Given the description of an element on the screen output the (x, y) to click on. 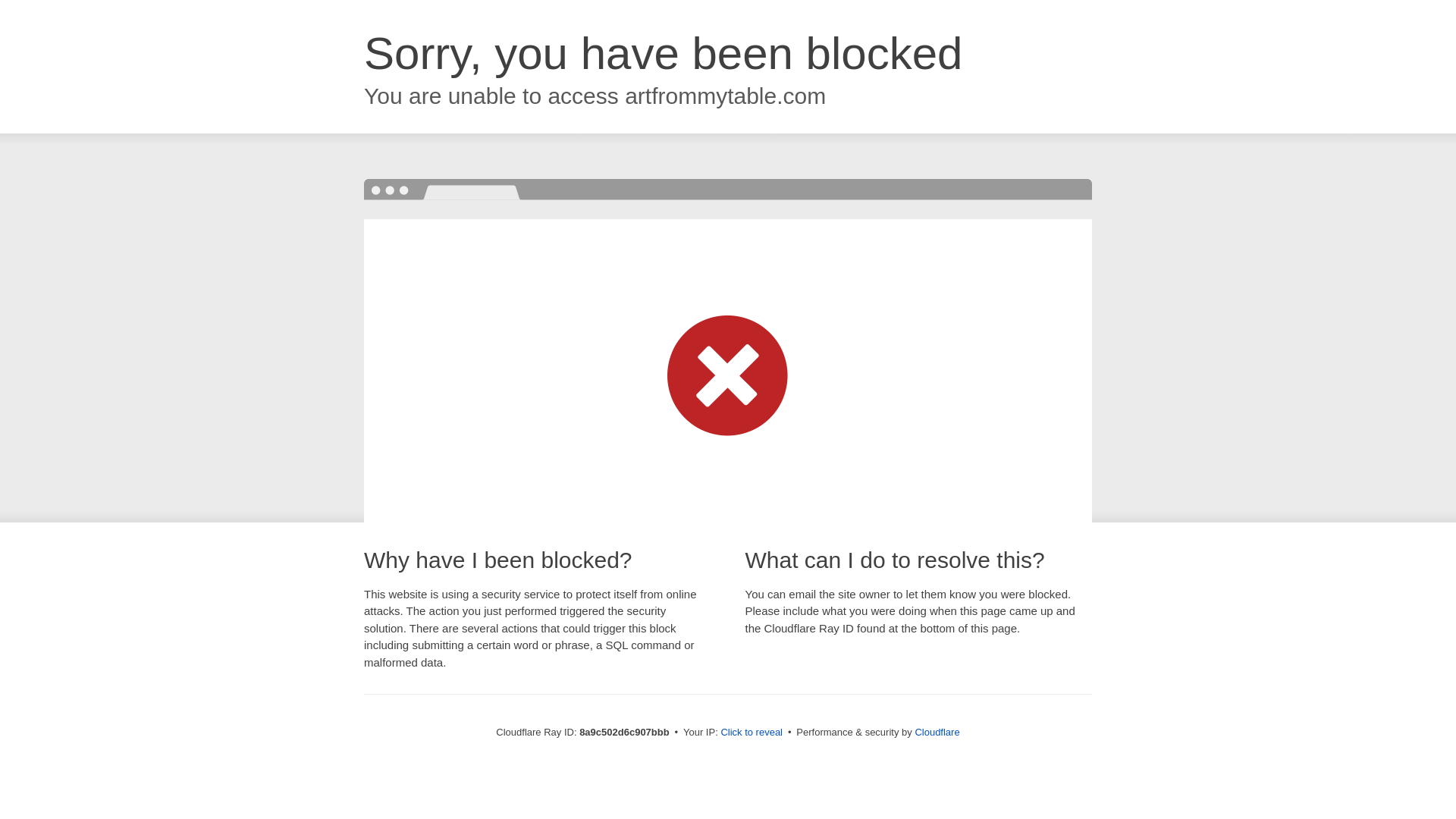
Click to reveal (751, 732)
Cloudflare (936, 731)
